Given the description of an element on the screen output the (x, y) to click on. 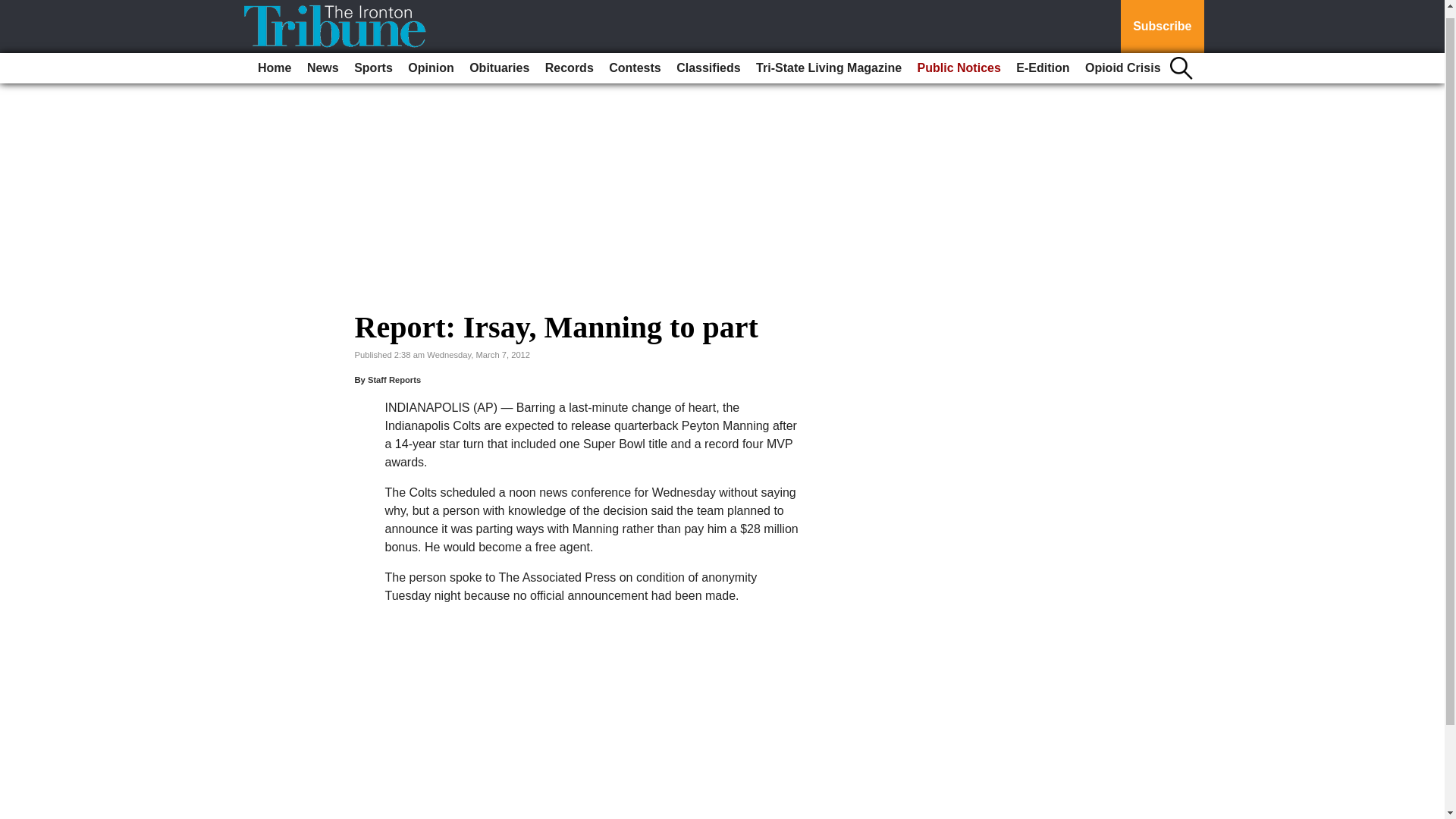
E-Edition (1042, 60)
Staff Reports (394, 379)
Classifieds (707, 60)
Public Notices (959, 60)
Go (13, 4)
Subscribe (1162, 22)
Opioid Crisis (1122, 60)
Sports (372, 60)
Contests (634, 60)
Home (274, 60)
